Given the description of an element on the screen output the (x, y) to click on. 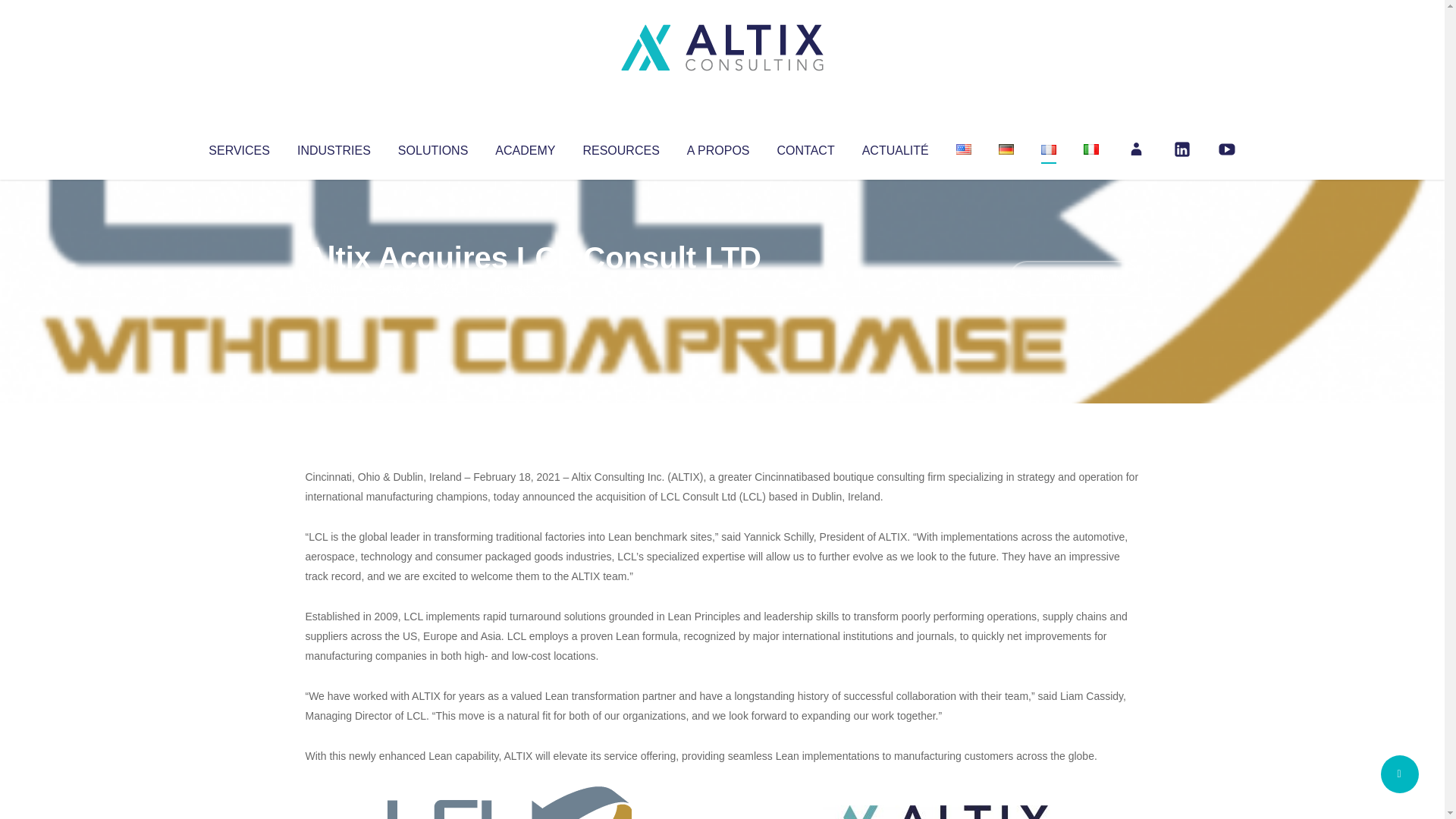
Altix (333, 287)
INDUSTRIES (334, 146)
SOLUTIONS (432, 146)
SERVICES (238, 146)
ACADEMY (524, 146)
Uncategorized (530, 287)
RESOURCES (620, 146)
Articles par Altix (333, 287)
A PROPOS (718, 146)
No Comments (1073, 278)
